Given the description of an element on the screen output the (x, y) to click on. 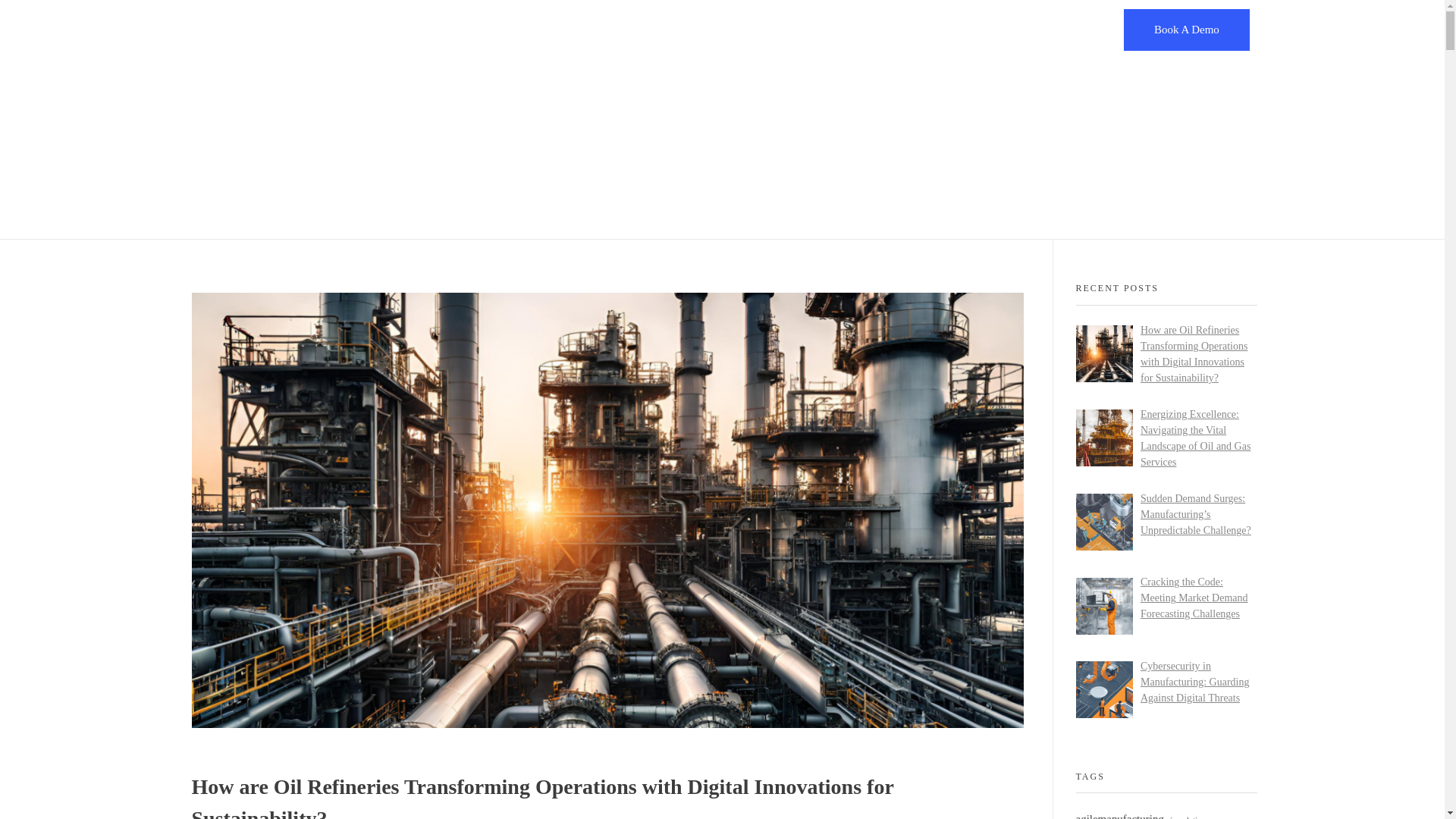
Book A Demo (1186, 29)
